Given the description of an element on the screen output the (x, y) to click on. 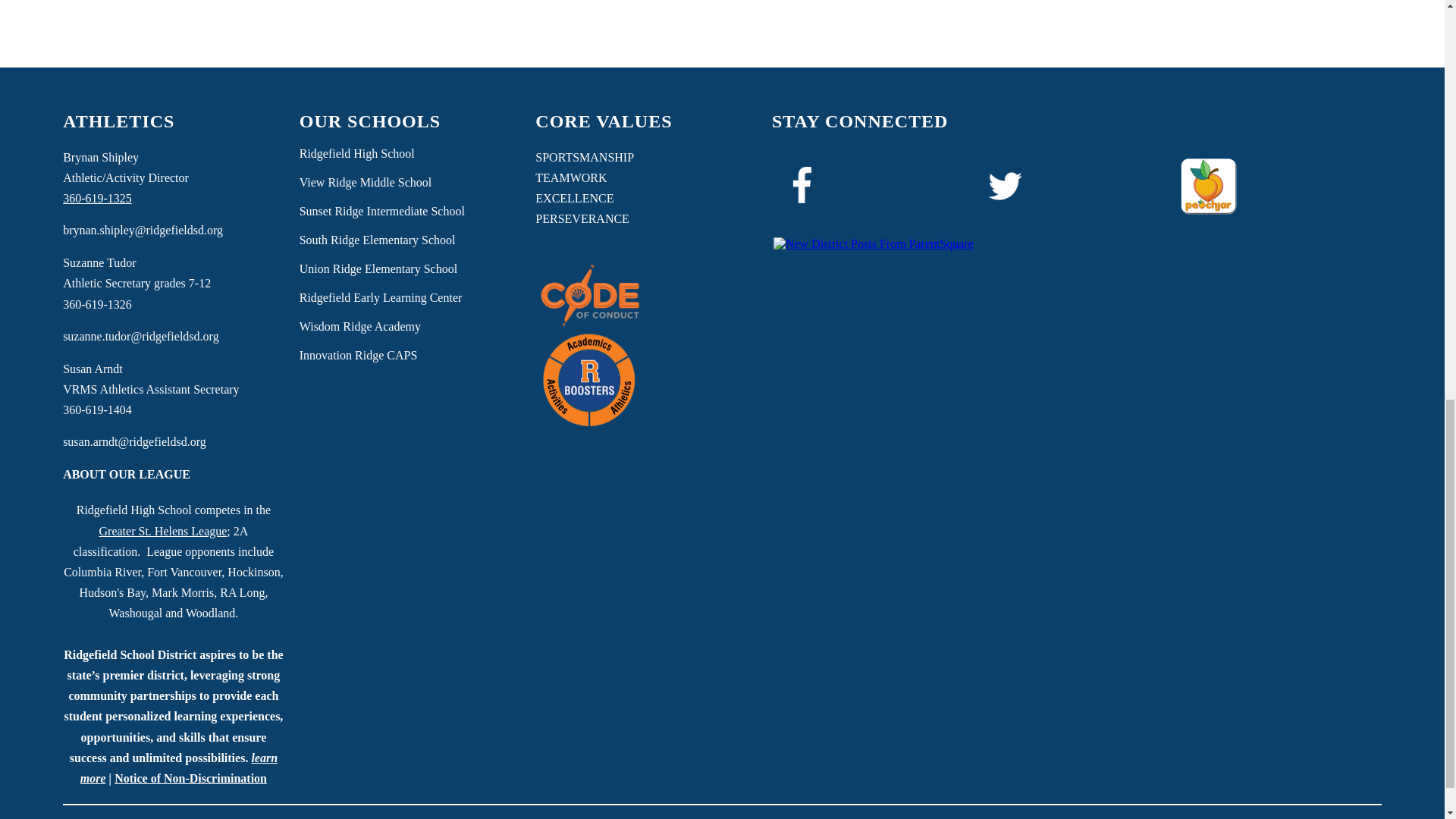
Notice of Non-Discrimination (190, 778)
360-619-1325 (97, 197)
Union Ridge Elementary School (378, 269)
South Ridge Elementary School (377, 240)
Wisdom Ridge Academy (359, 326)
Ridgefield High School (356, 153)
learn more (179, 767)
View Ridge Middle School (365, 182)
Sunset Ridge Intermediate School (381, 211)
Innovation Ridge CAPS (358, 355)
Greater St. Helens League (163, 530)
Ridgefield Early Learning Center (381, 297)
